Given the description of an element on the screen output the (x, y) to click on. 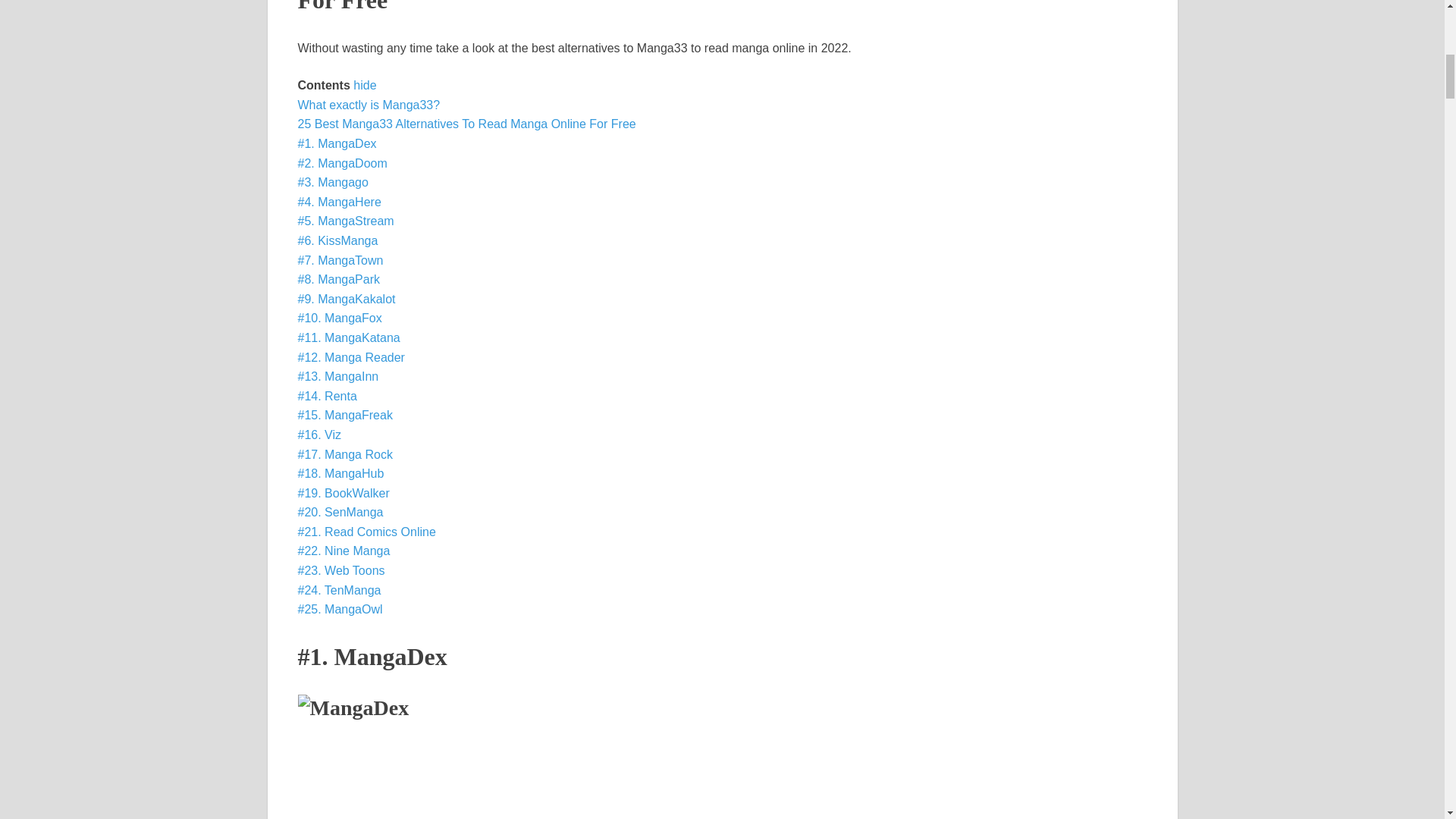
25 Best Manga33 Alternatives To Read Manga Online For Free (465, 123)
What exactly is Manga33? (368, 104)
hide (364, 84)
